Given the description of an element on the screen output the (x, y) to click on. 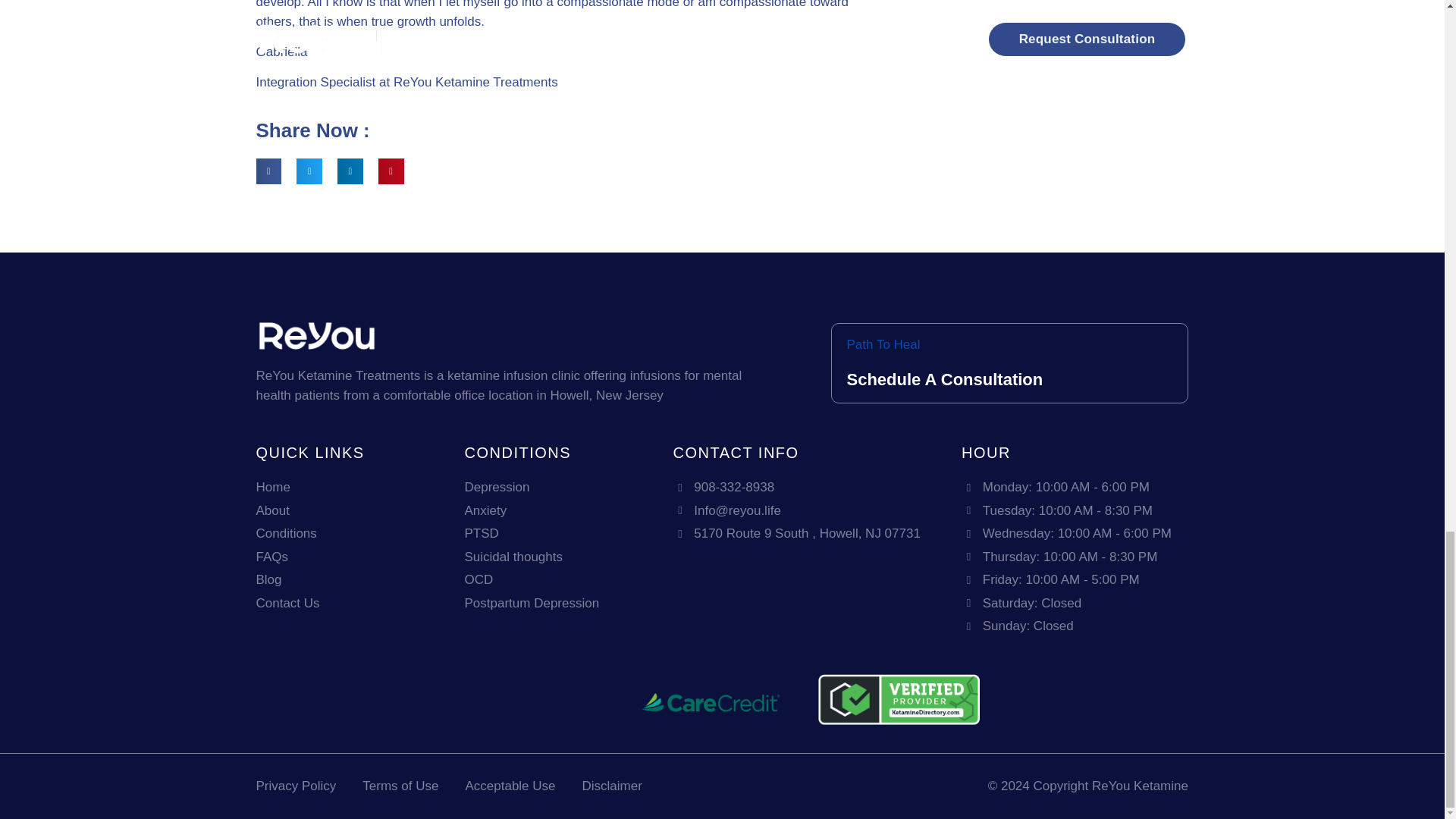
Find me on Ketamine Directory (898, 720)
